Given the description of an element on the screen output the (x, y) to click on. 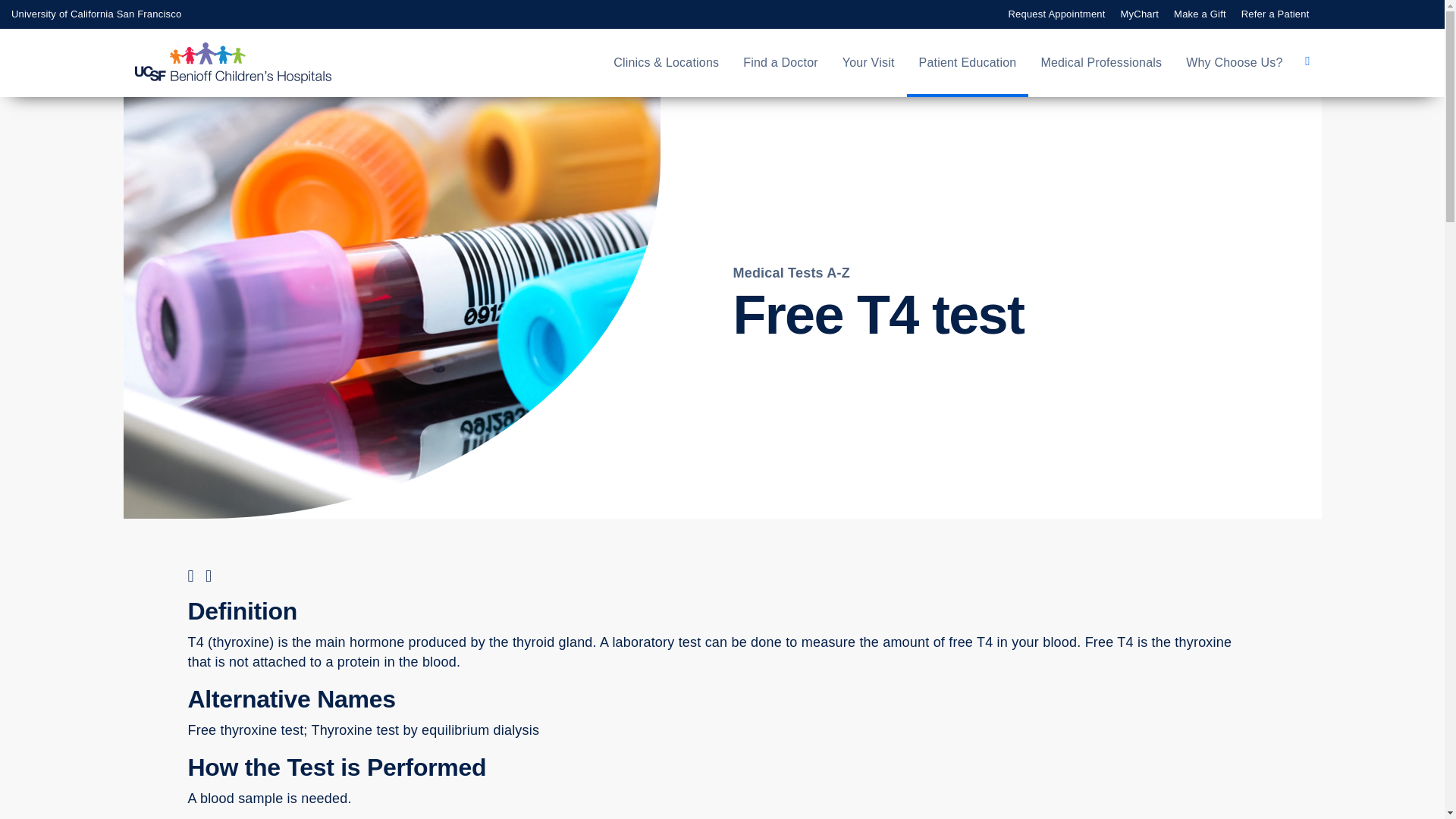
University of California San Francisco (95, 13)
Your Visit (868, 62)
Homepage icon (248, 62)
Find a Doctor (779, 62)
Patient Education (968, 62)
